Given the description of an element on the screen output the (x, y) to click on. 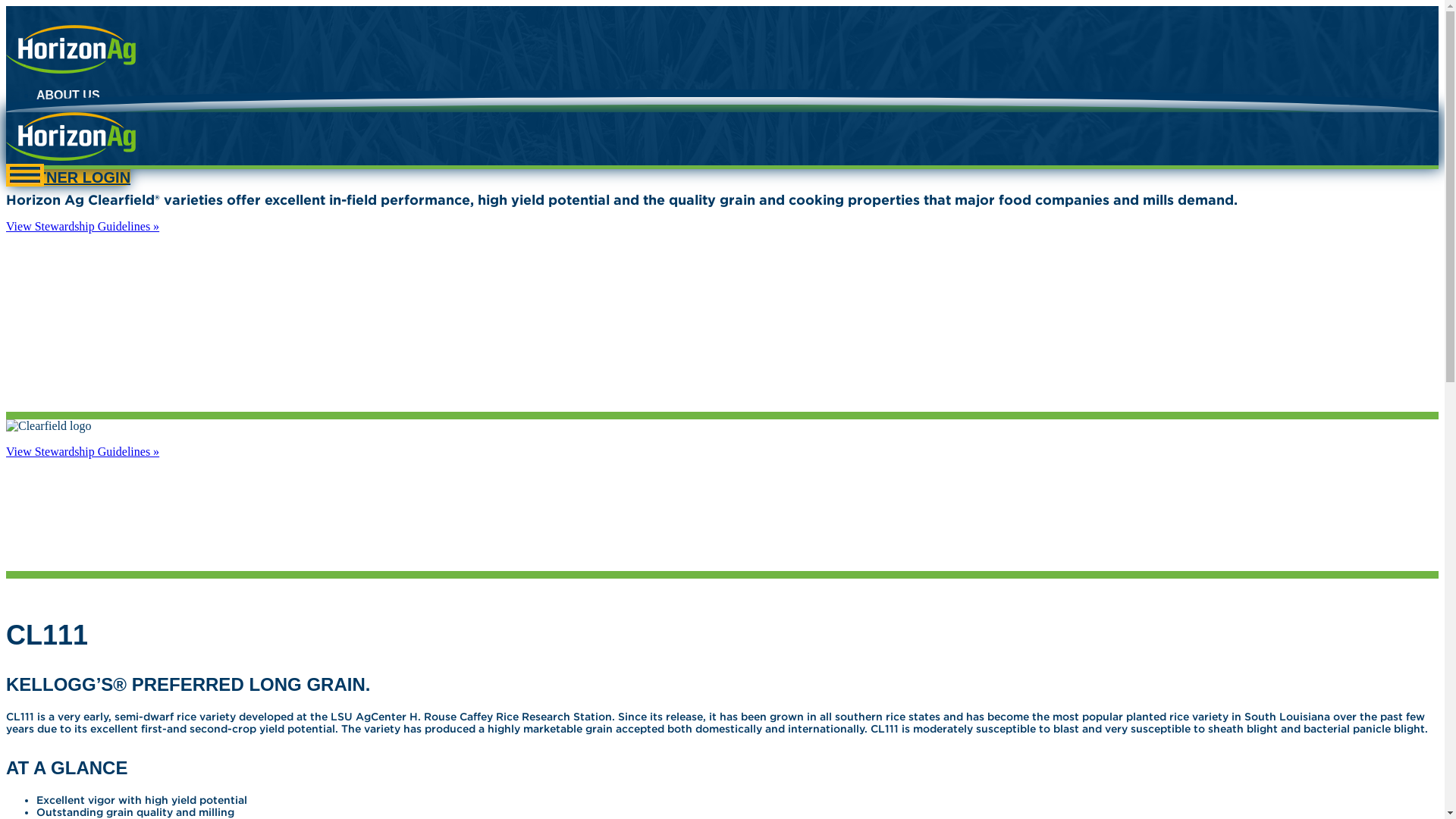
PARTNER LOGIN (68, 173)
RETAILERS (70, 135)
VARIETIES (68, 108)
CONTACT US (76, 149)
ABOUT US (68, 94)
NEWS (55, 122)
